Given the description of an element on the screen output the (x, y) to click on. 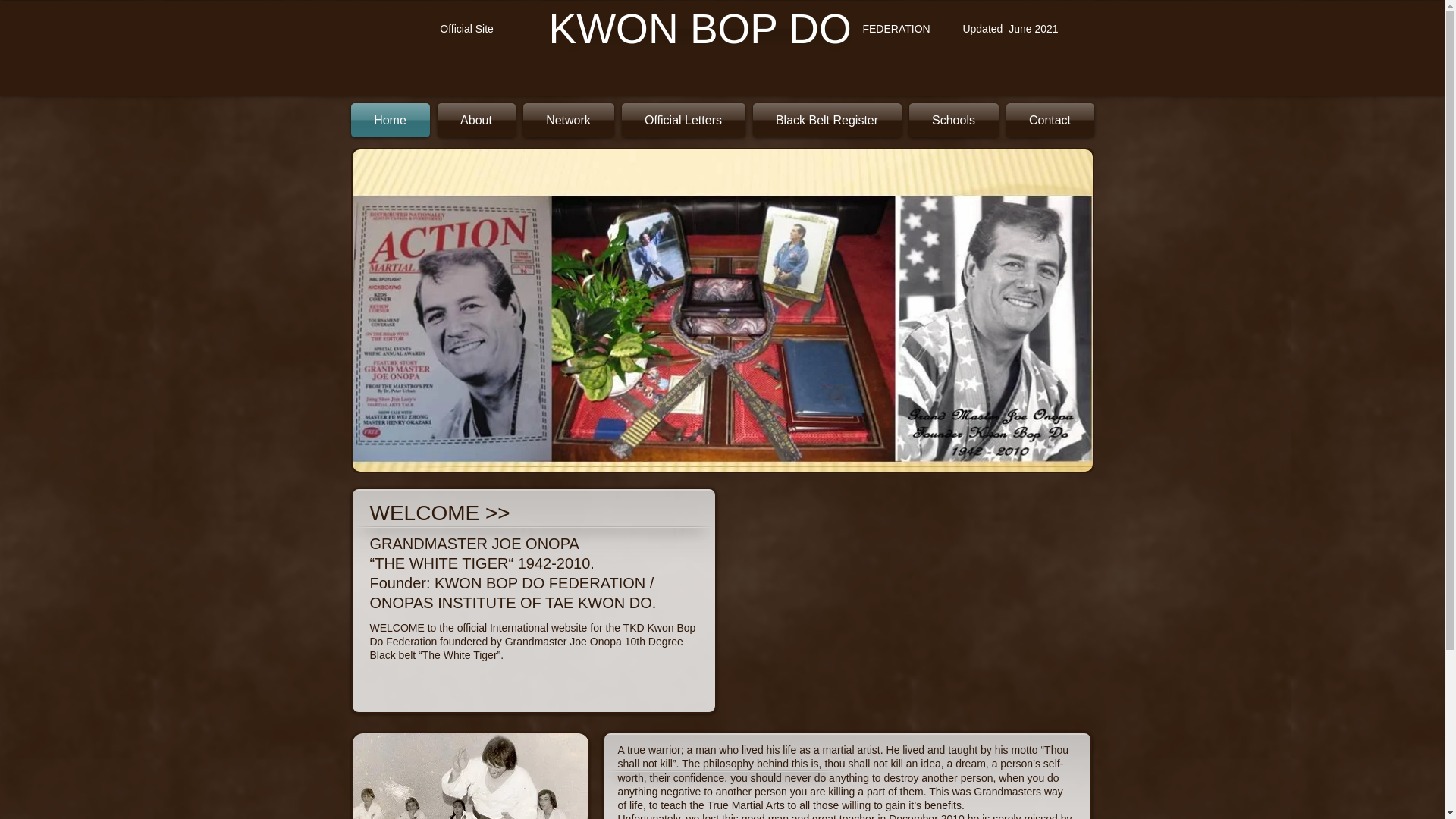
Schools (954, 120)
Network (567, 120)
Home (391, 120)
Black Belt Register (827, 120)
Official Letters (682, 120)
About (476, 120)
Contact (1048, 120)
